Given the description of an element on the screen output the (x, y) to click on. 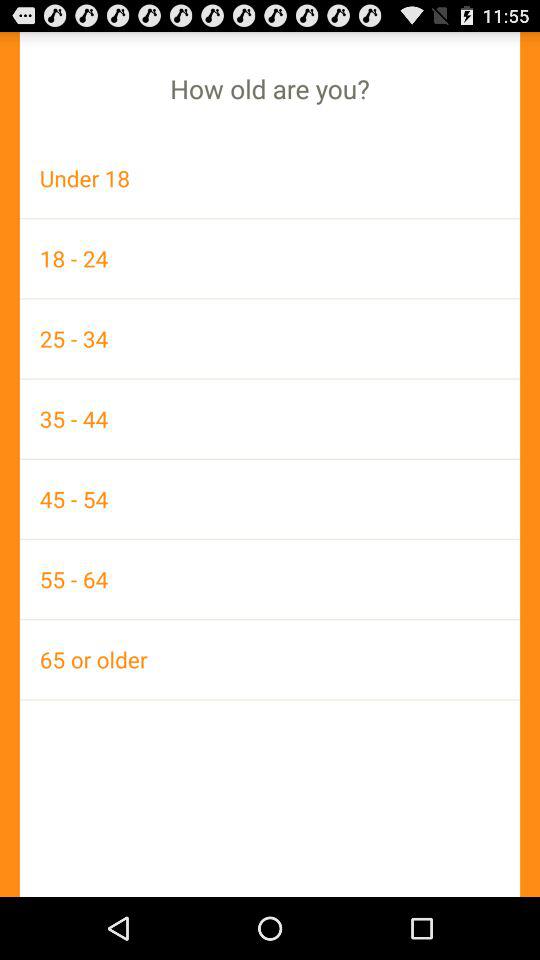
flip until the under 18 (269, 177)
